Given the description of an element on the screen output the (x, y) to click on. 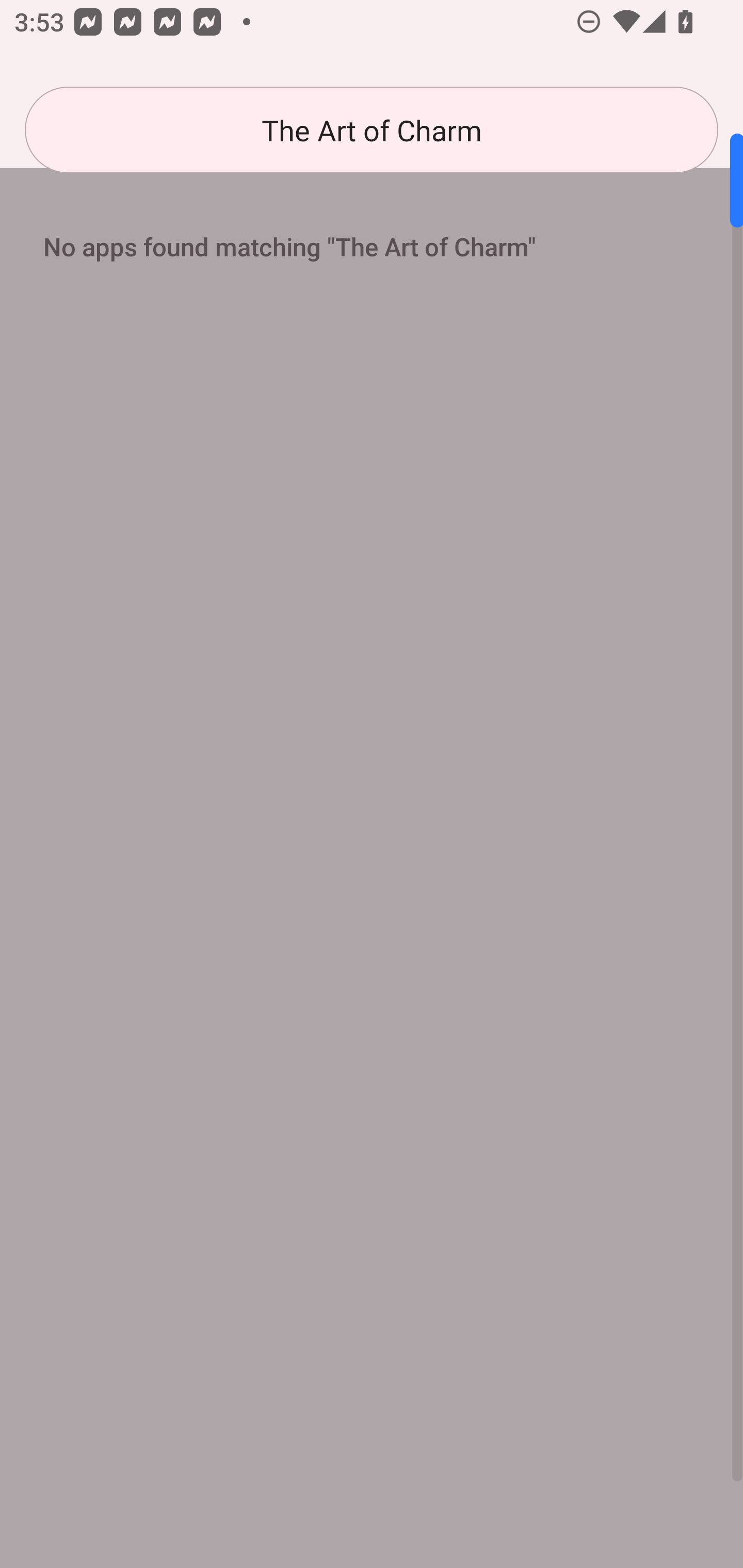
The Art of Charm (371, 130)
